Given the description of an element on the screen output the (x, y) to click on. 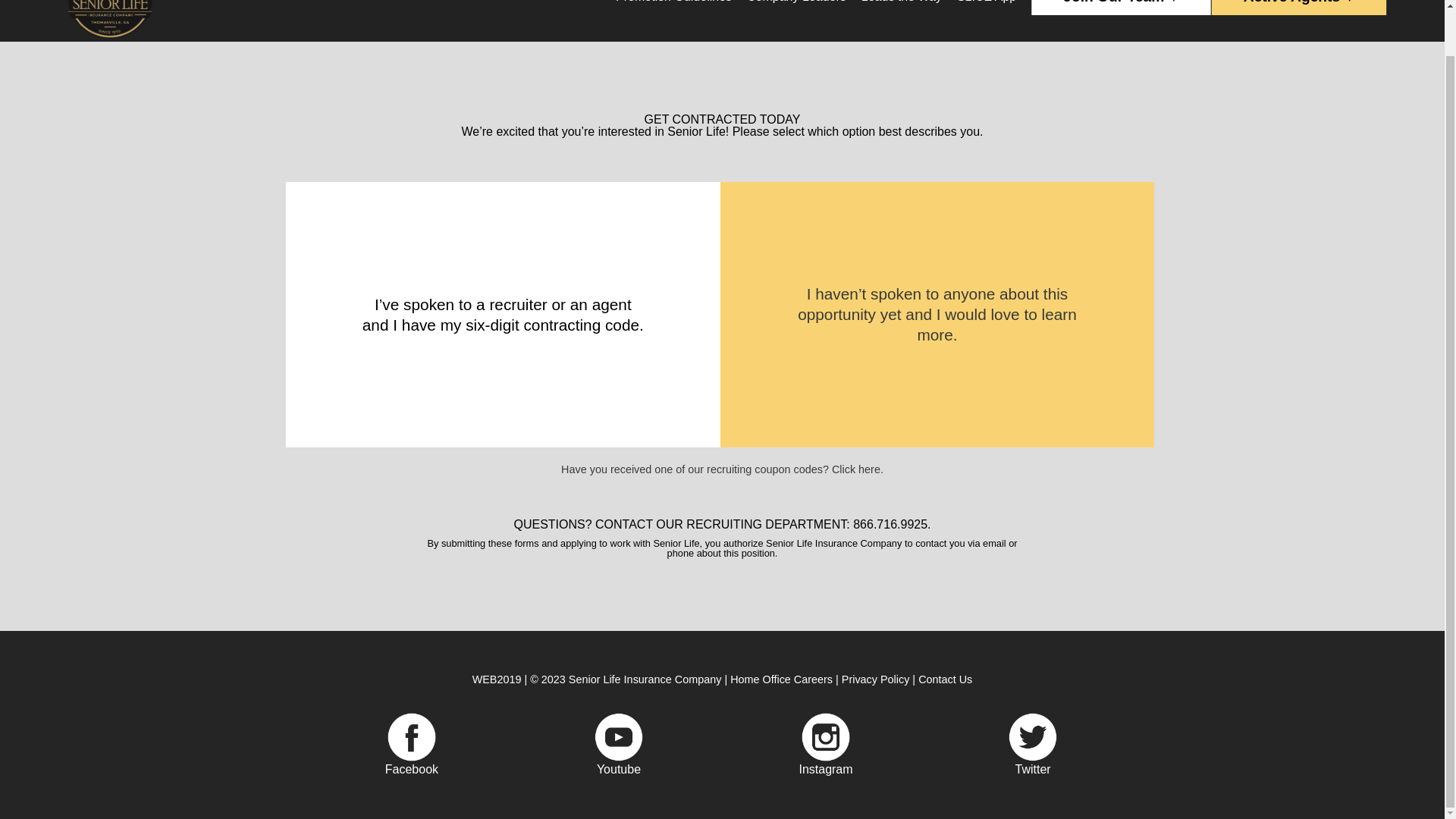
Home Office Careers (781, 679)
Promotion Guidelines (673, 6)
Facebook (413, 768)
Company Leaders (796, 6)
SLICE App (986, 6)
Leads the Way (901, 6)
Contact Us (945, 679)
Youtube (619, 768)
Privacy Policy (875, 679)
Twitter (1033, 768)
Instagram (827, 768)
